Given the description of an element on the screen output the (x, y) to click on. 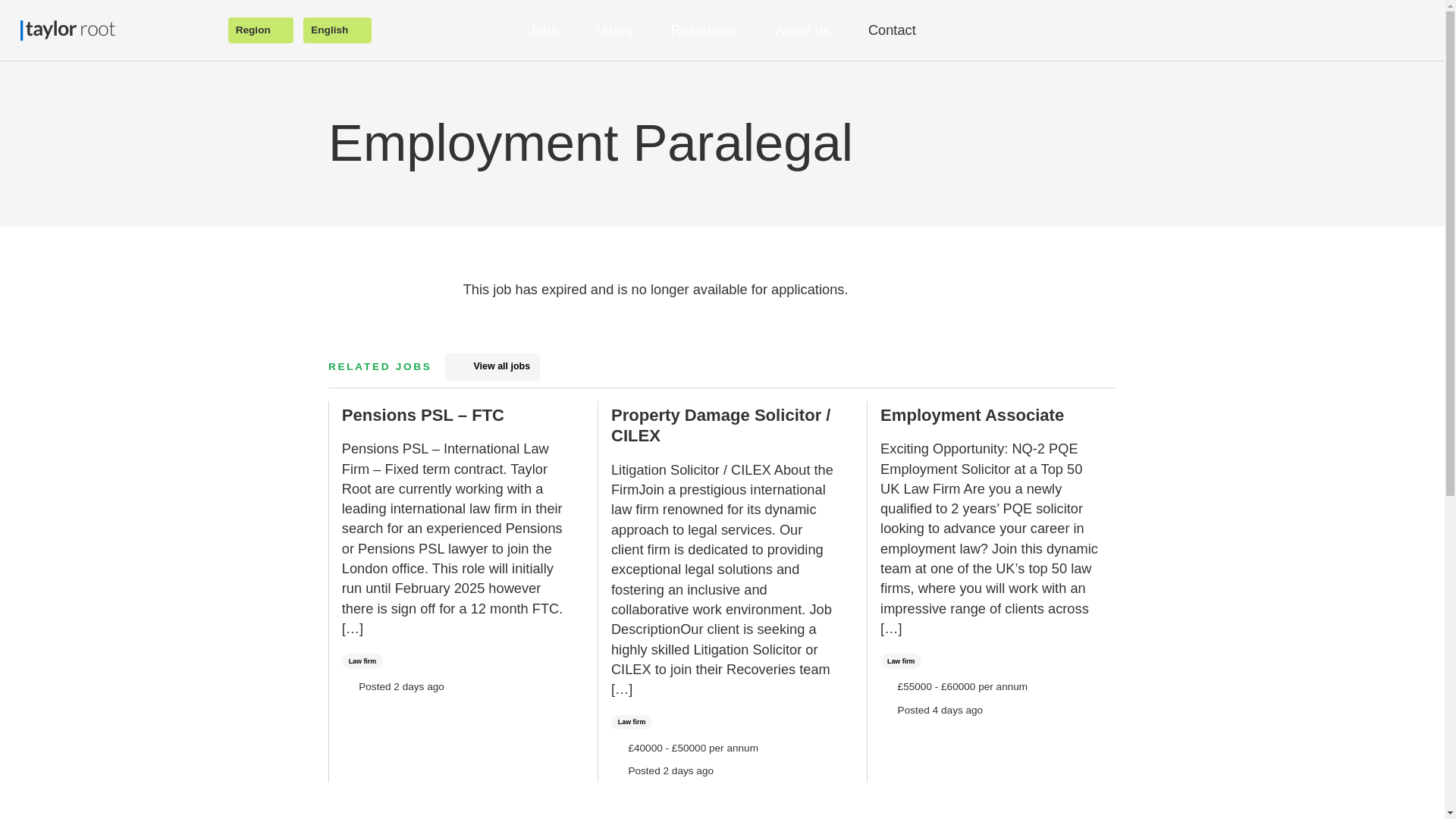
Region (260, 29)
English (336, 29)
Jobs (550, 30)
English (336, 29)
